Given the description of an element on the screen output the (x, y) to click on. 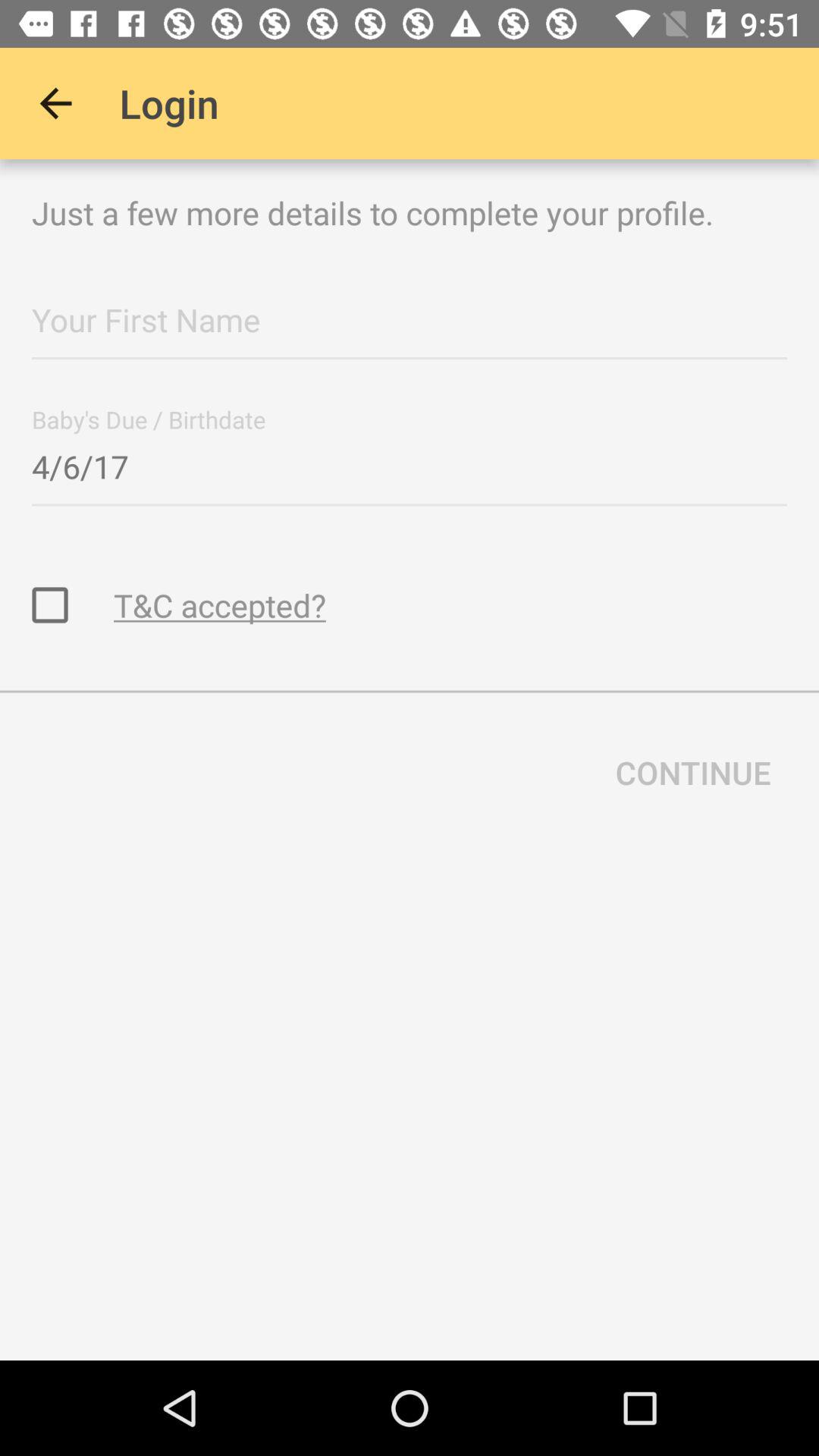
turn on app next to the login (55, 103)
